Given the description of an element on the screen output the (x, y) to click on. 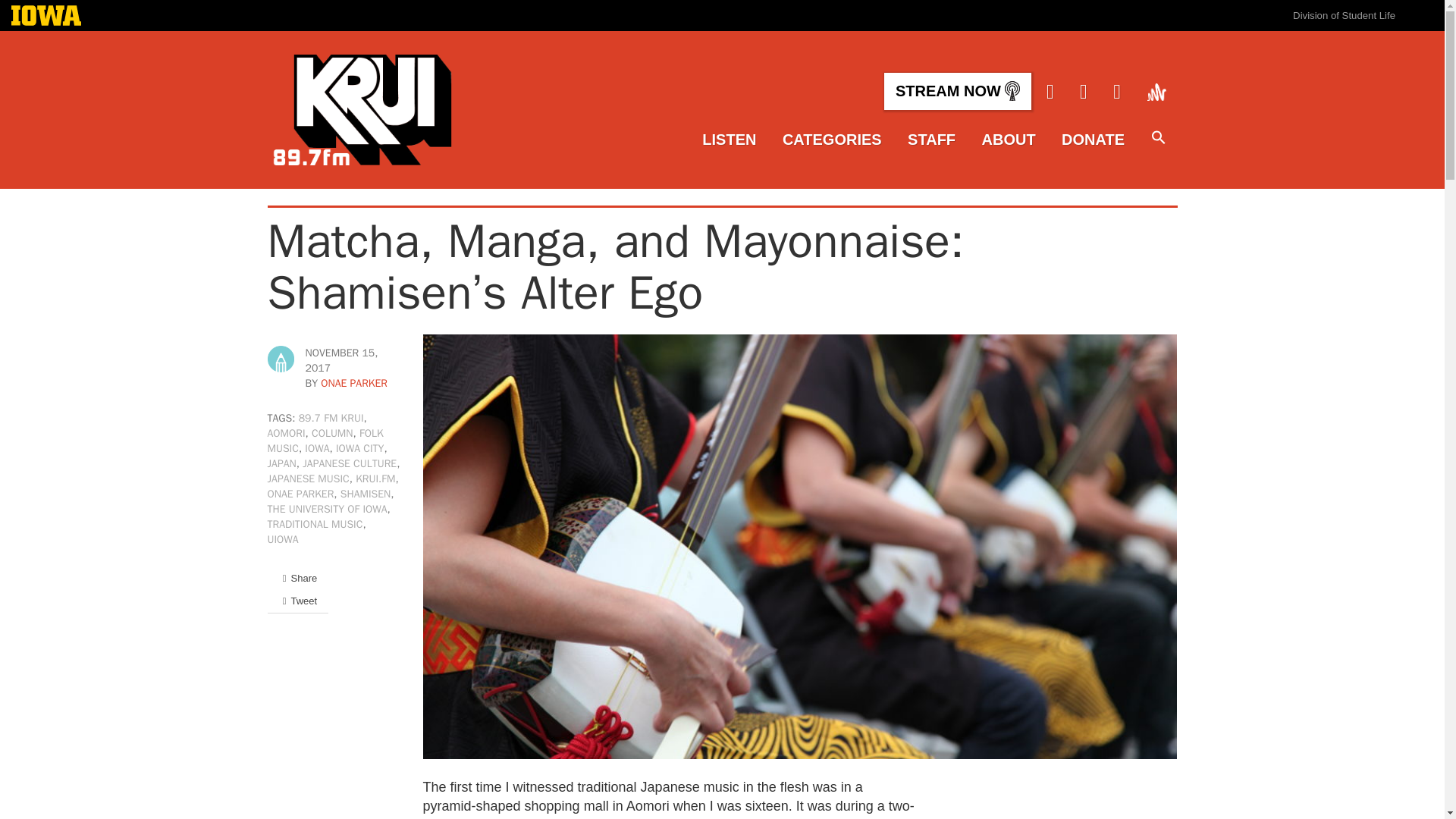
CATEGORIES (832, 139)
Share on Twitter (296, 600)
Division of Student Life (1343, 15)
LISTEN (728, 139)
ABOUT (1008, 139)
The University of Iowa (46, 16)
STREAM NOW (956, 90)
Share on Facebook (296, 577)
STAFF (931, 139)
